Given the description of an element on the screen output the (x, y) to click on. 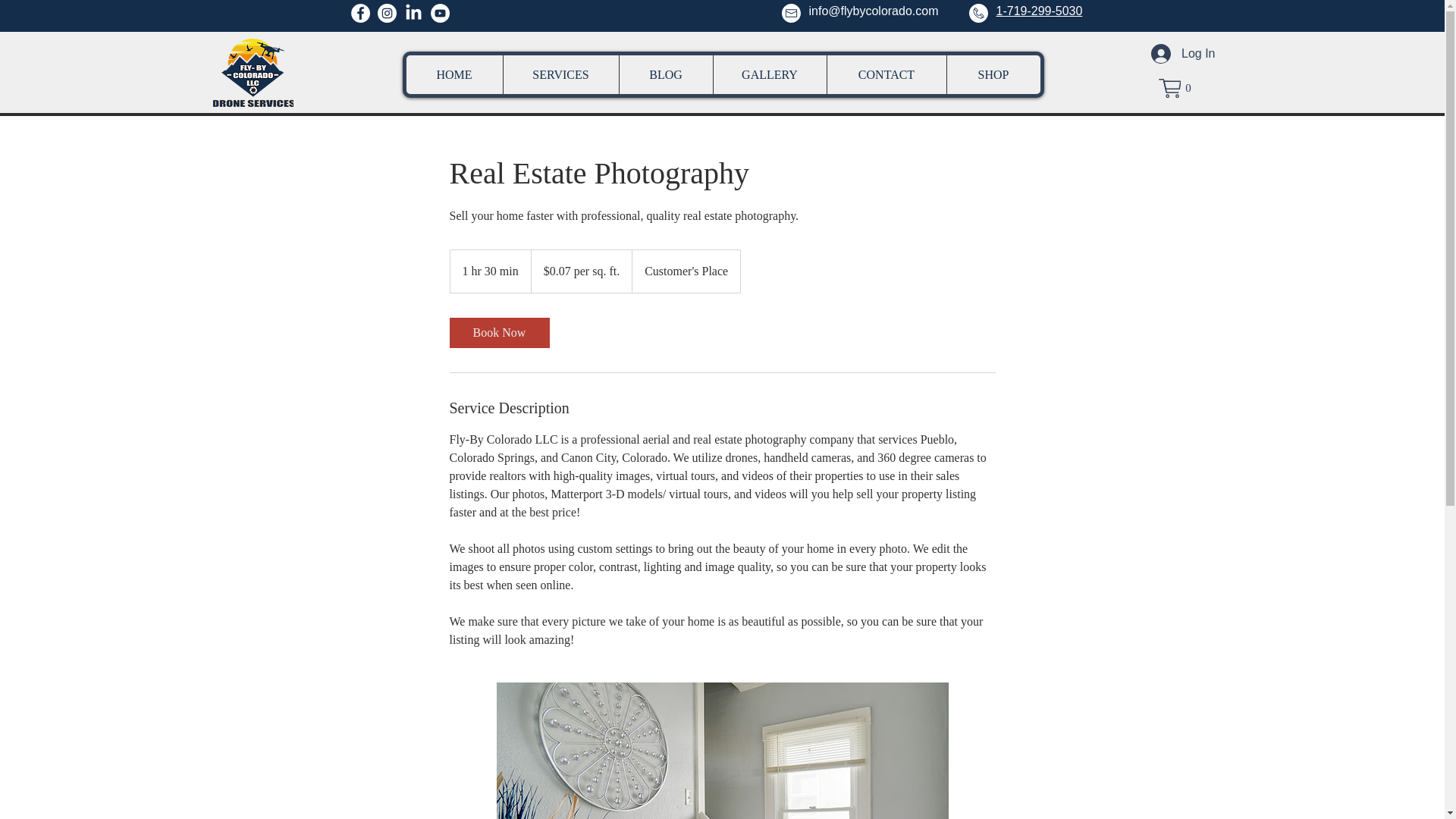
CONTACT (886, 74)
SHOP (993, 74)
1-719-299-5030 (1039, 10)
Log In (1182, 53)
Book Now (498, 332)
GALLERY (770, 74)
BLOG (665, 74)
SERVICES (559, 74)
HOME (454, 74)
